Given the description of an element on the screen output the (x, y) to click on. 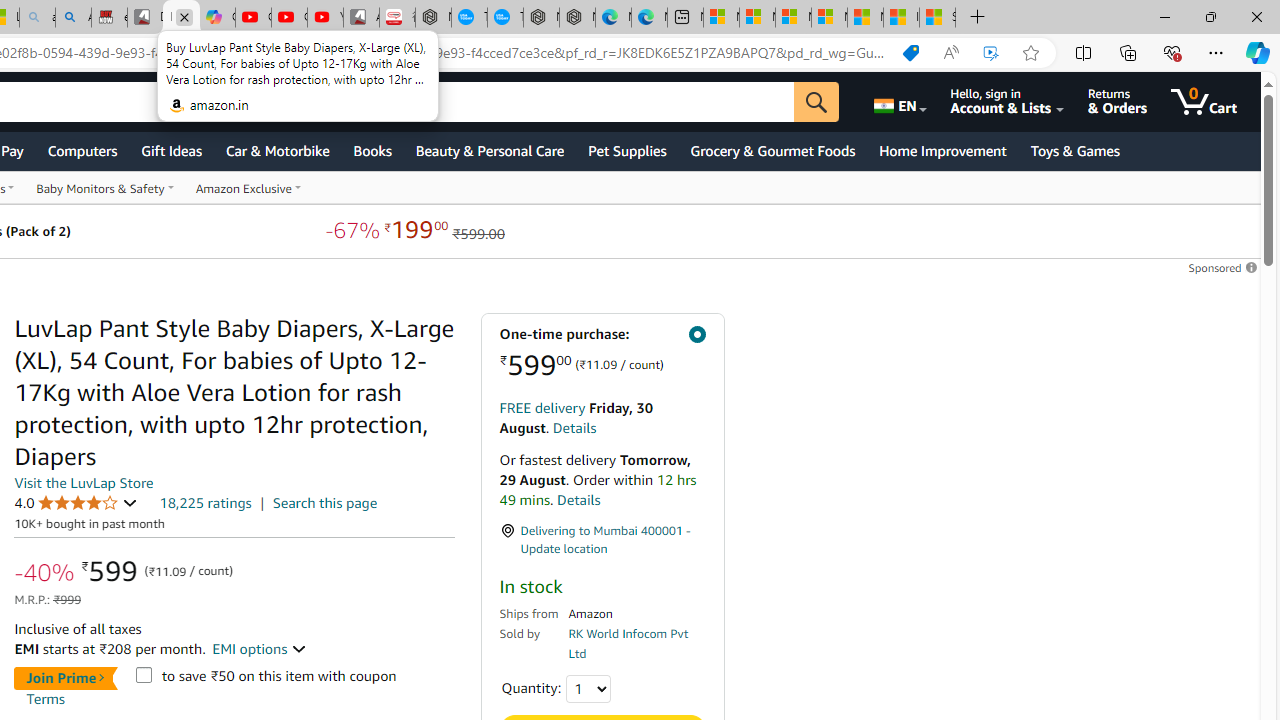
All Cubot phones (361, 17)
